Given the description of an element on the screen output the (x, y) to click on. 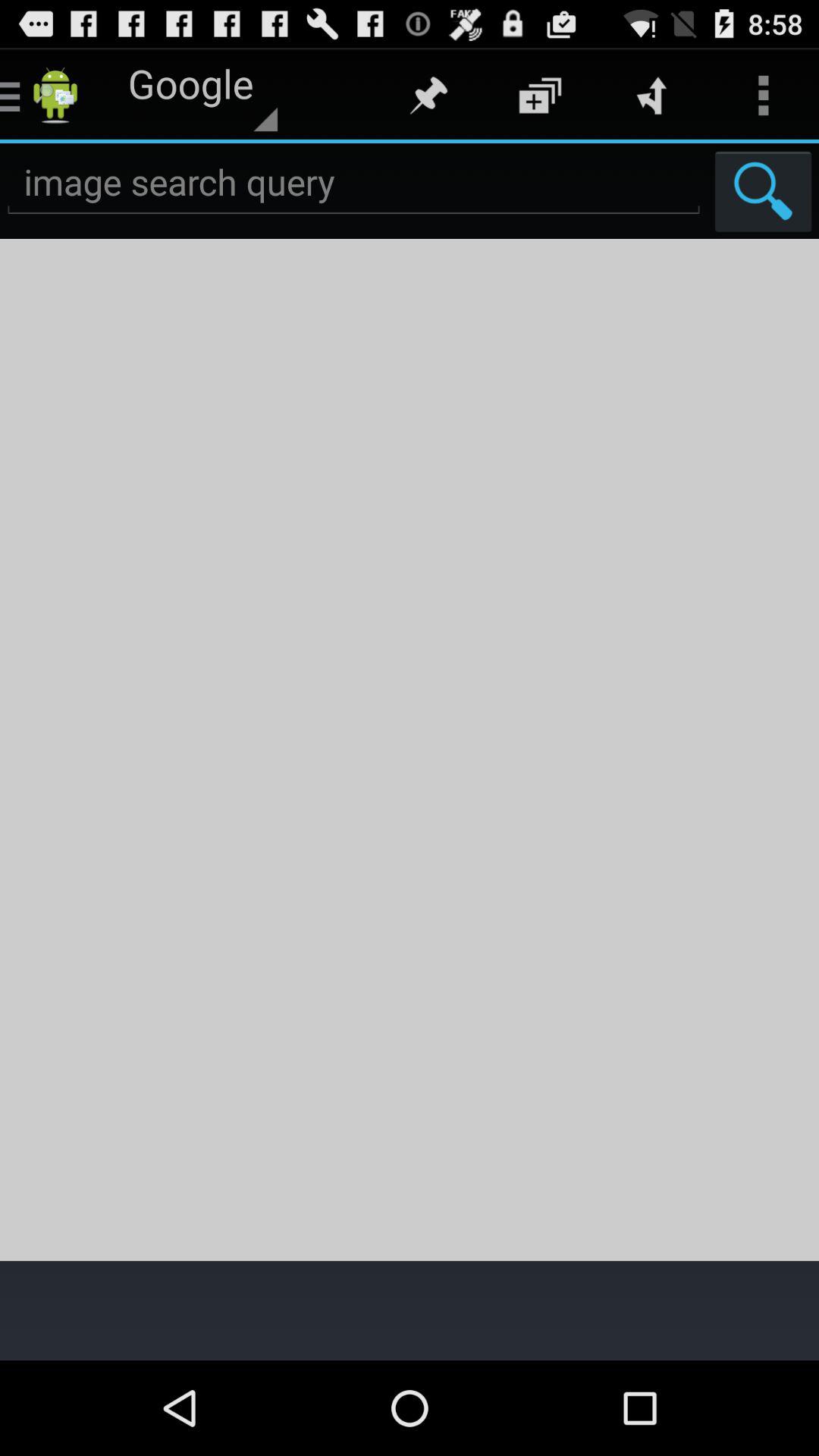
search button (763, 190)
